Given the description of an element on the screen output the (x, y) to click on. 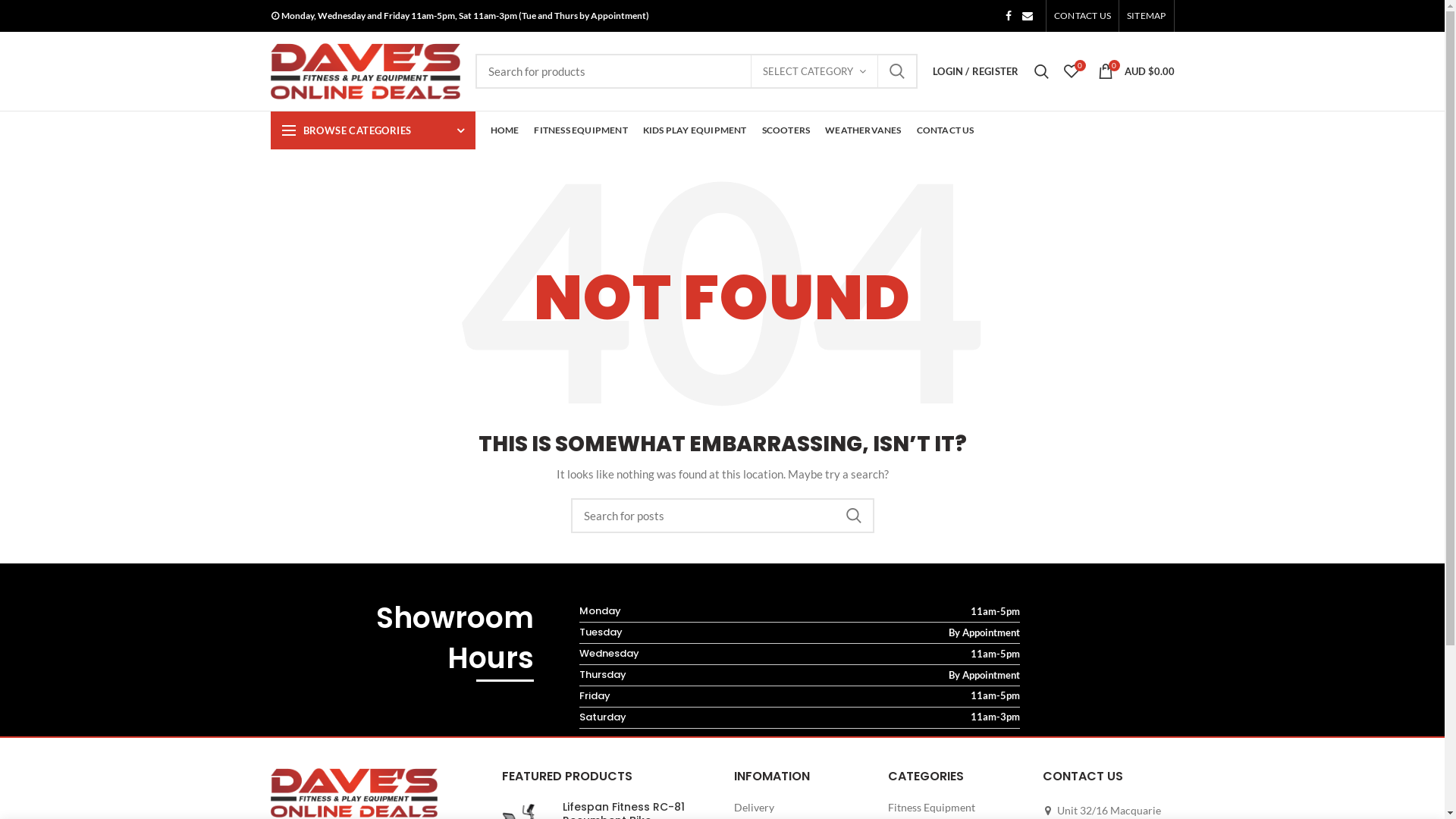
SEARCH Element type: text (897, 70)
SITEMAP Element type: text (1146, 15)
WEATHERVANES Element type: text (862, 130)
Delivery Element type: text (754, 807)
CONTACT US Element type: text (945, 130)
CONTACT US Element type: text (1082, 15)
Log in Element type: text (893, 246)
SELECT CATEGORY Element type: text (814, 71)
HOME Element type: text (504, 130)
0 Element type: text (1070, 71)
FITNESS EQUIPMENT Element type: text (580, 130)
Email Element type: text (1027, 15)
0
AUD $0.00 Element type: text (1136, 71)
KIDS PLAY EQUIPMENT Element type: text (694, 130)
SEARCH Element type: text (853, 515)
Log in Element type: text (893, 298)
SCOOTERS Element type: text (786, 130)
LOGIN / REGISTER Element type: text (975, 71)
Facebook Element type: text (1008, 15)
Search Element type: hover (1041, 71)
Fitness Equipment Element type: text (932, 807)
